Given the description of an element on the screen output the (x, y) to click on. 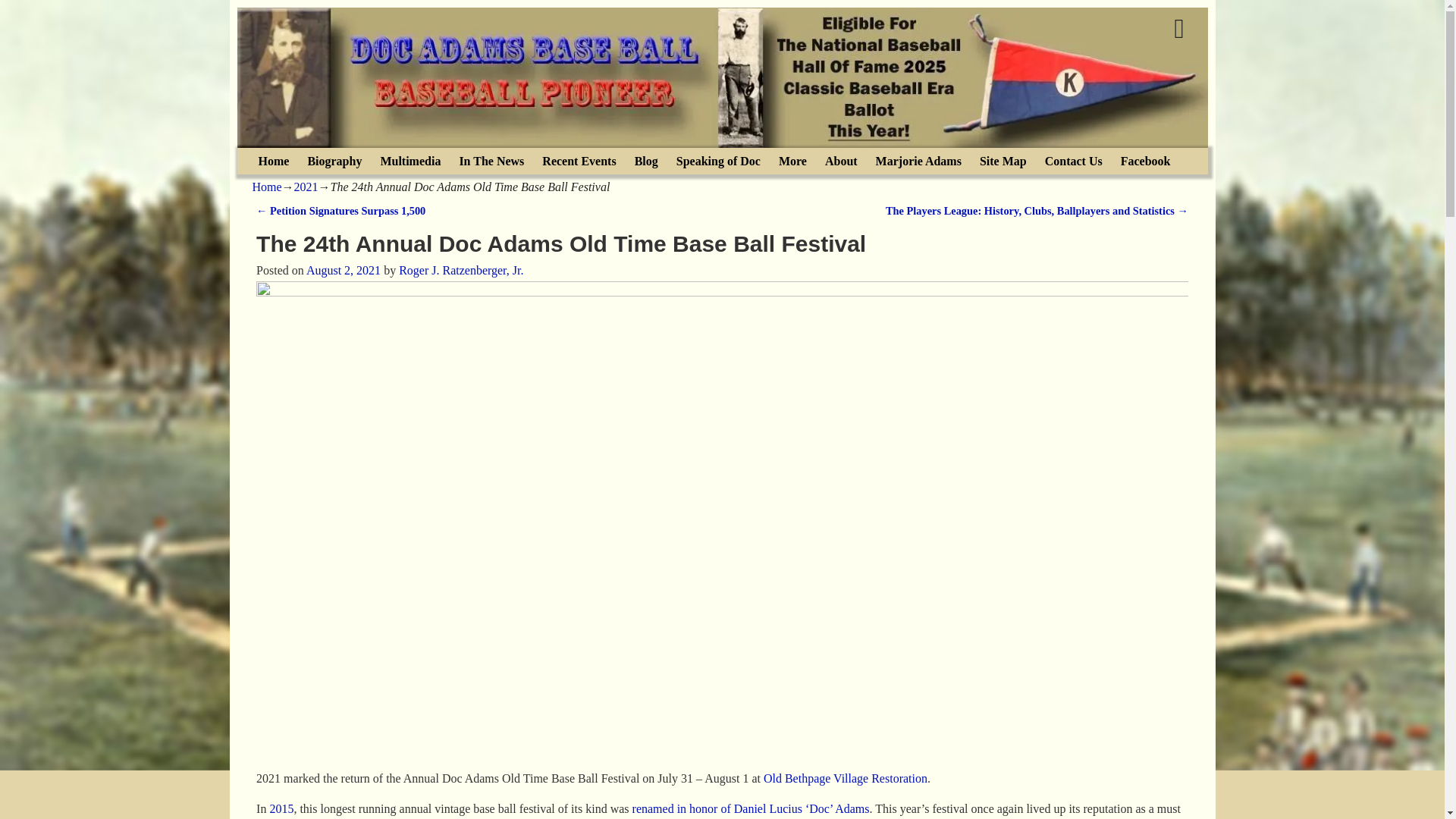
2015 (281, 808)
Blog (646, 161)
Old Bethpage Village Restoration (844, 778)
Multimedia (410, 161)
Facebook (1145, 161)
Home (266, 186)
In The News (490, 161)
Home (273, 161)
Roger J. Ratzenberger, Jr. (460, 269)
View all posts by Roger J. Ratzenberger, Jr. (460, 269)
Biography (334, 161)
Recent Events (578, 161)
Site Map (1003, 161)
August 2, 2021 (342, 269)
Contact Us (1073, 161)
